Given the description of an element on the screen output the (x, y) to click on. 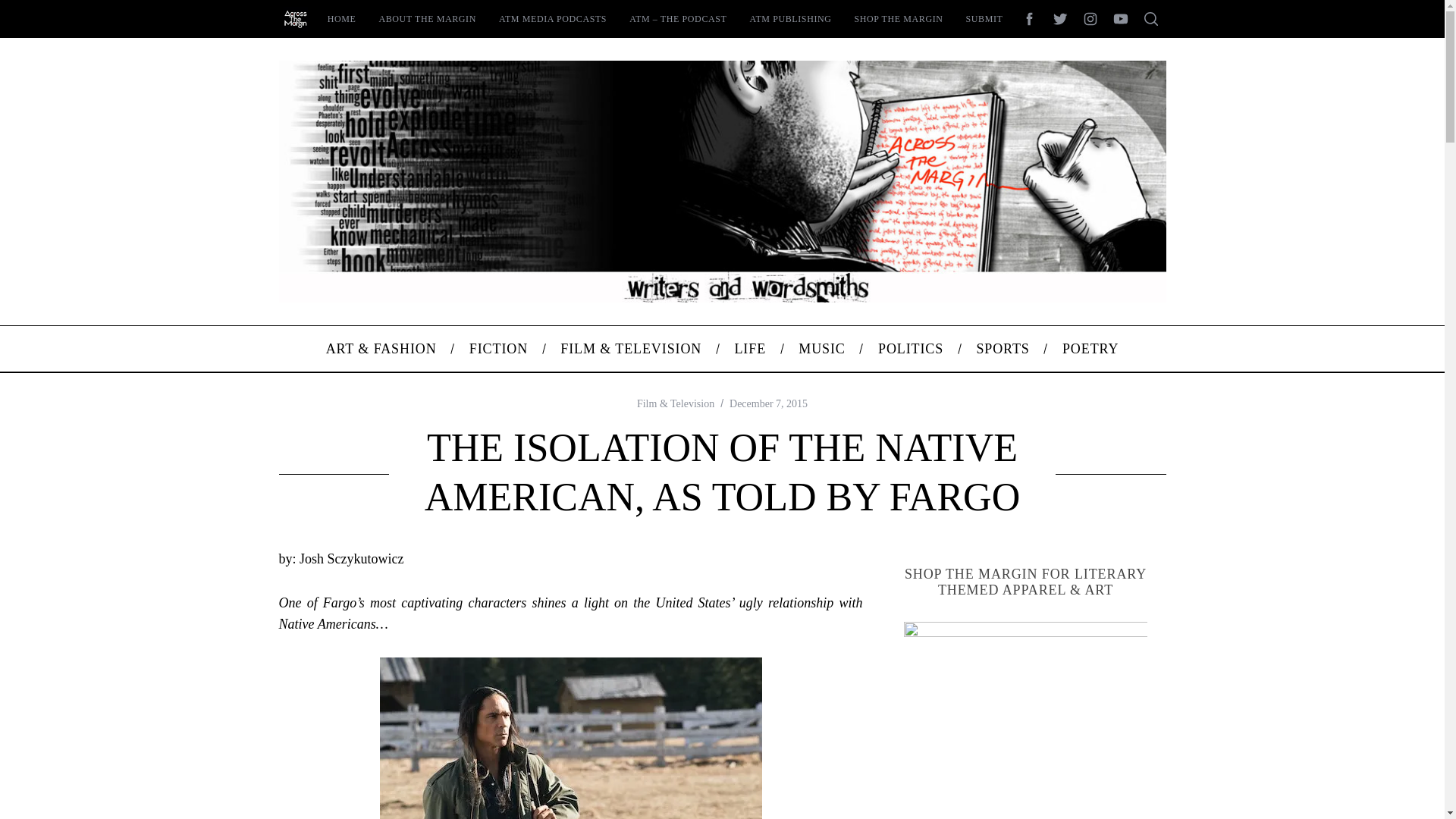
SHOP THE MARGIN (899, 18)
POETRY (1090, 348)
POLITICS (910, 348)
SUBMIT (984, 18)
HOME (341, 18)
ABOUT THE MARGIN (426, 18)
LIFE (750, 348)
SHOP THE MARGIN! (1026, 720)
ATM PUBLISHING (790, 18)
MUSIC (822, 348)
